Given the description of an element on the screen output the (x, y) to click on. 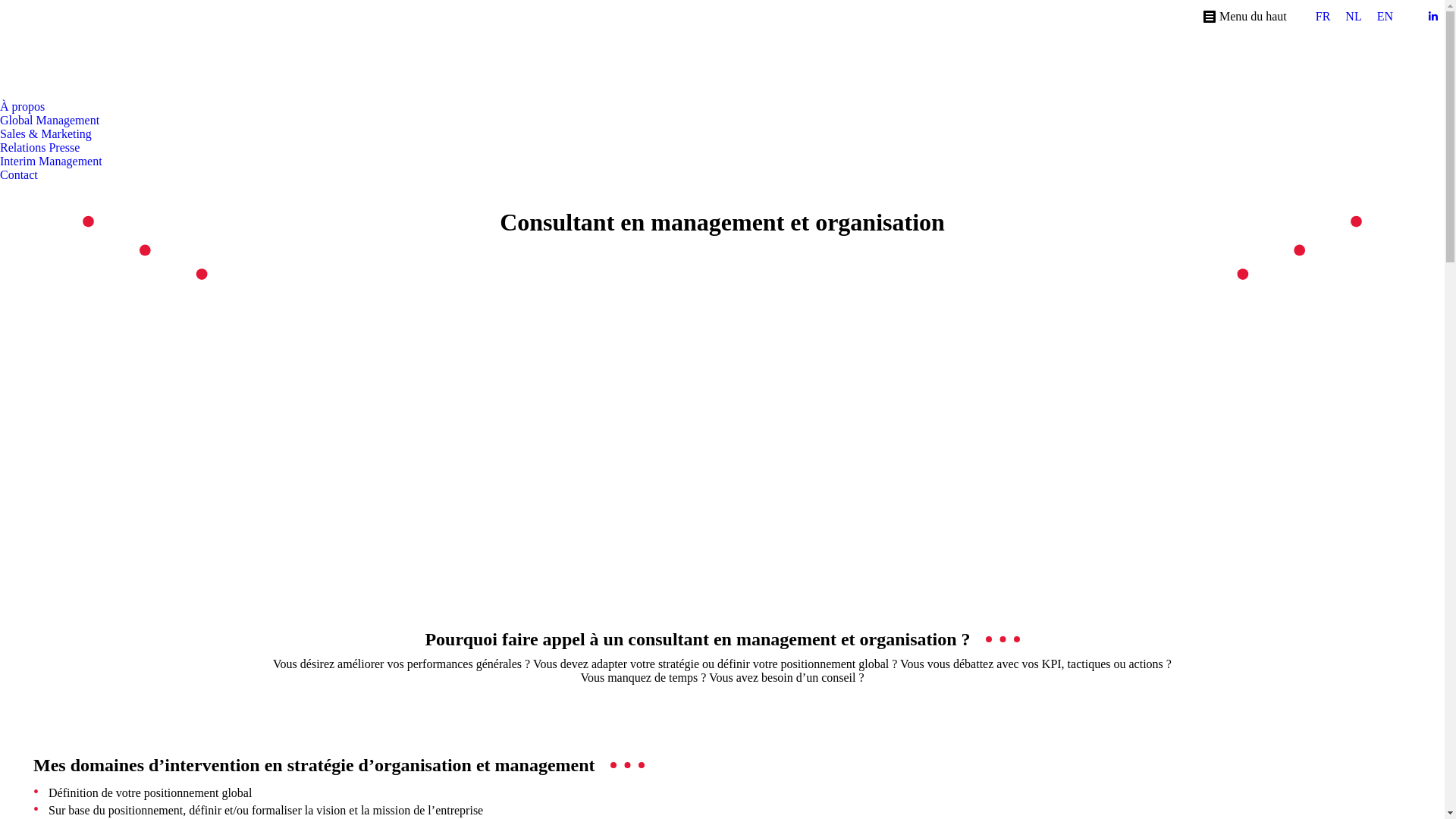
EN Element type: text (1384, 16)
Global Management Element type: text (49, 120)
Contact Element type: text (18, 175)
Interim Management Element type: text (51, 161)
LinkedIn page opens in new window Element type: text (1433, 16)
Sales & Marketing Element type: text (45, 134)
Relations Presse Element type: text (39, 147)
FR Element type: text (1323, 16)
NL Element type: text (1352, 16)
